Given the description of an element on the screen output the (x, y) to click on. 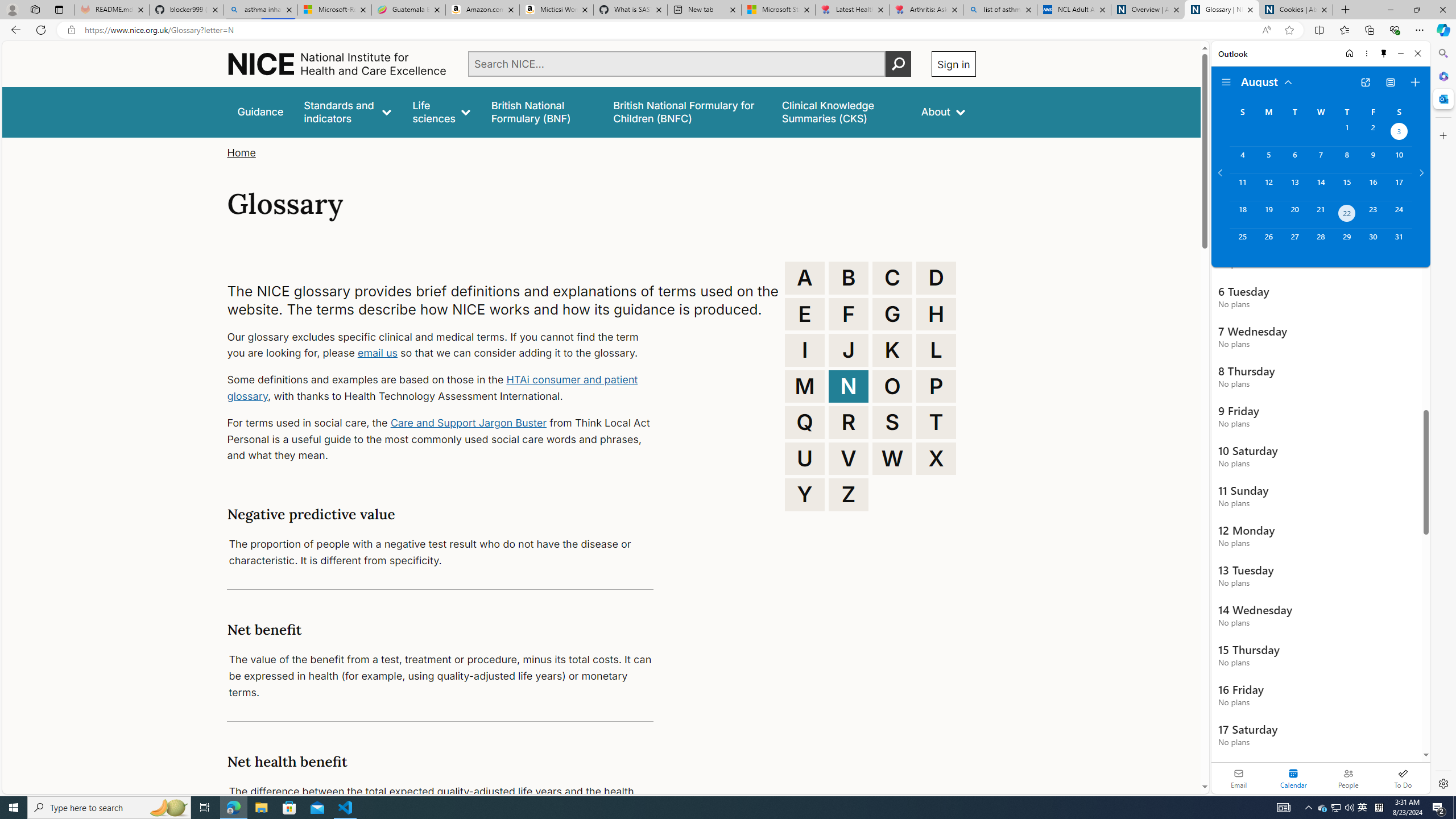
T (935, 422)
Saturday, August 24, 2024.  (1399, 214)
Thursday, August 22, 2024. Today.  (1346, 214)
Home (241, 152)
Home (241, 152)
Sunday, August 18, 2024.  (1242, 214)
Close tab (1324, 9)
J (848, 350)
C (892, 277)
Thursday, August 15, 2024.  (1346, 186)
Cookies | About | NICE (1295, 9)
R (848, 422)
